Given the description of an element on the screen output the (x, y) to click on. 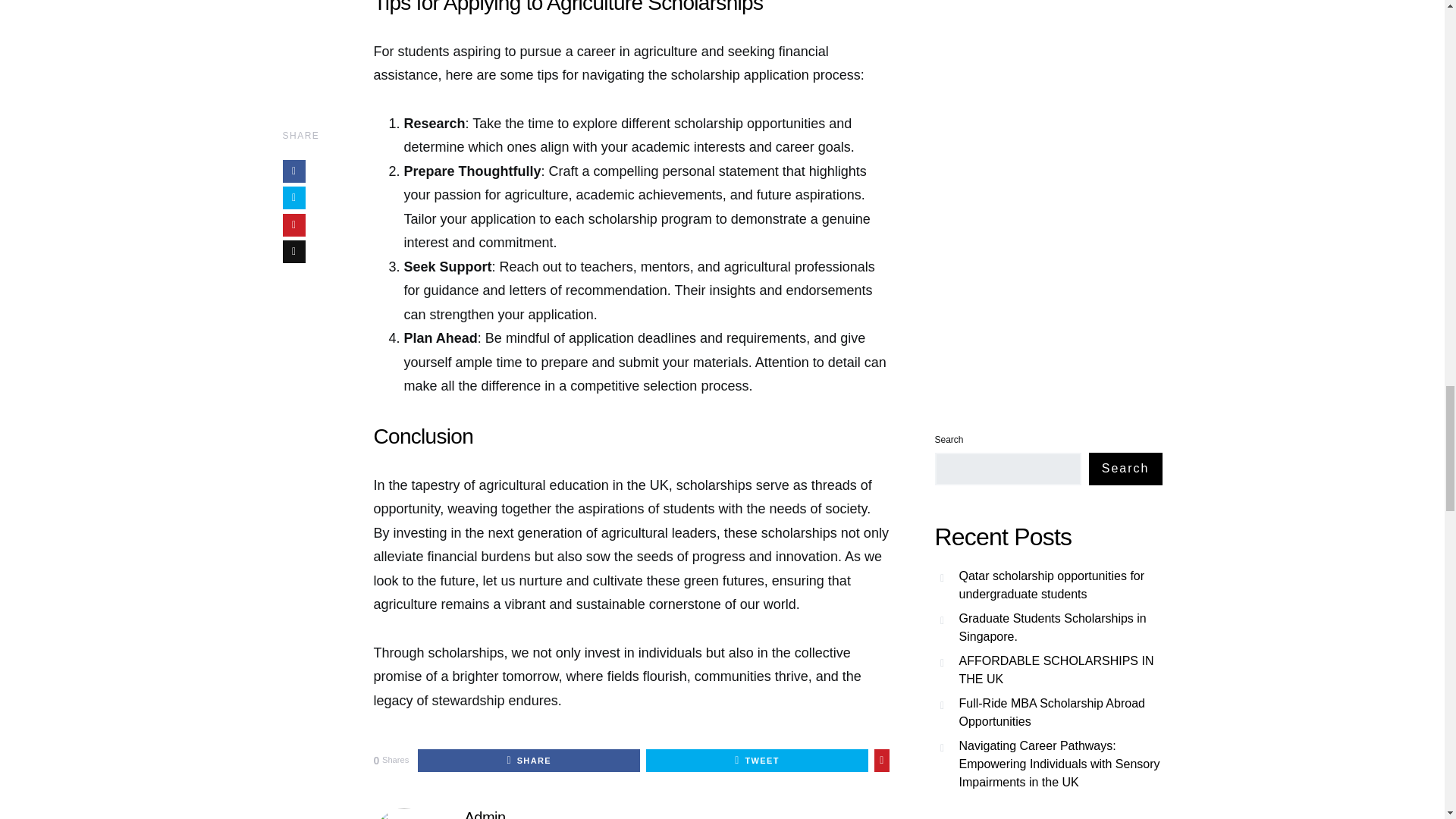
TWEET (756, 760)
SHARE (528, 760)
Admin (484, 814)
